Given the description of an element on the screen output the (x, y) to click on. 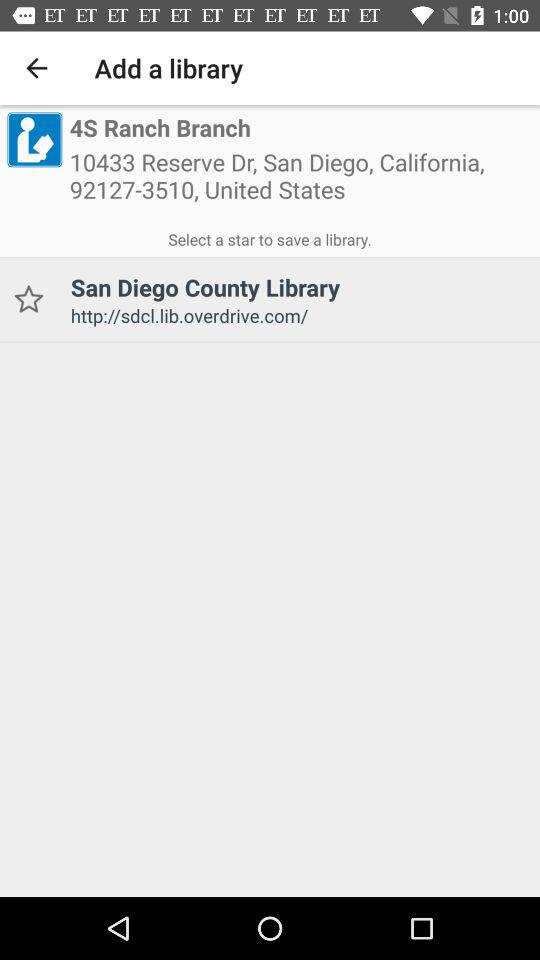
click the item below the san diego county icon (298, 315)
